Given the description of an element on the screen output the (x, y) to click on. 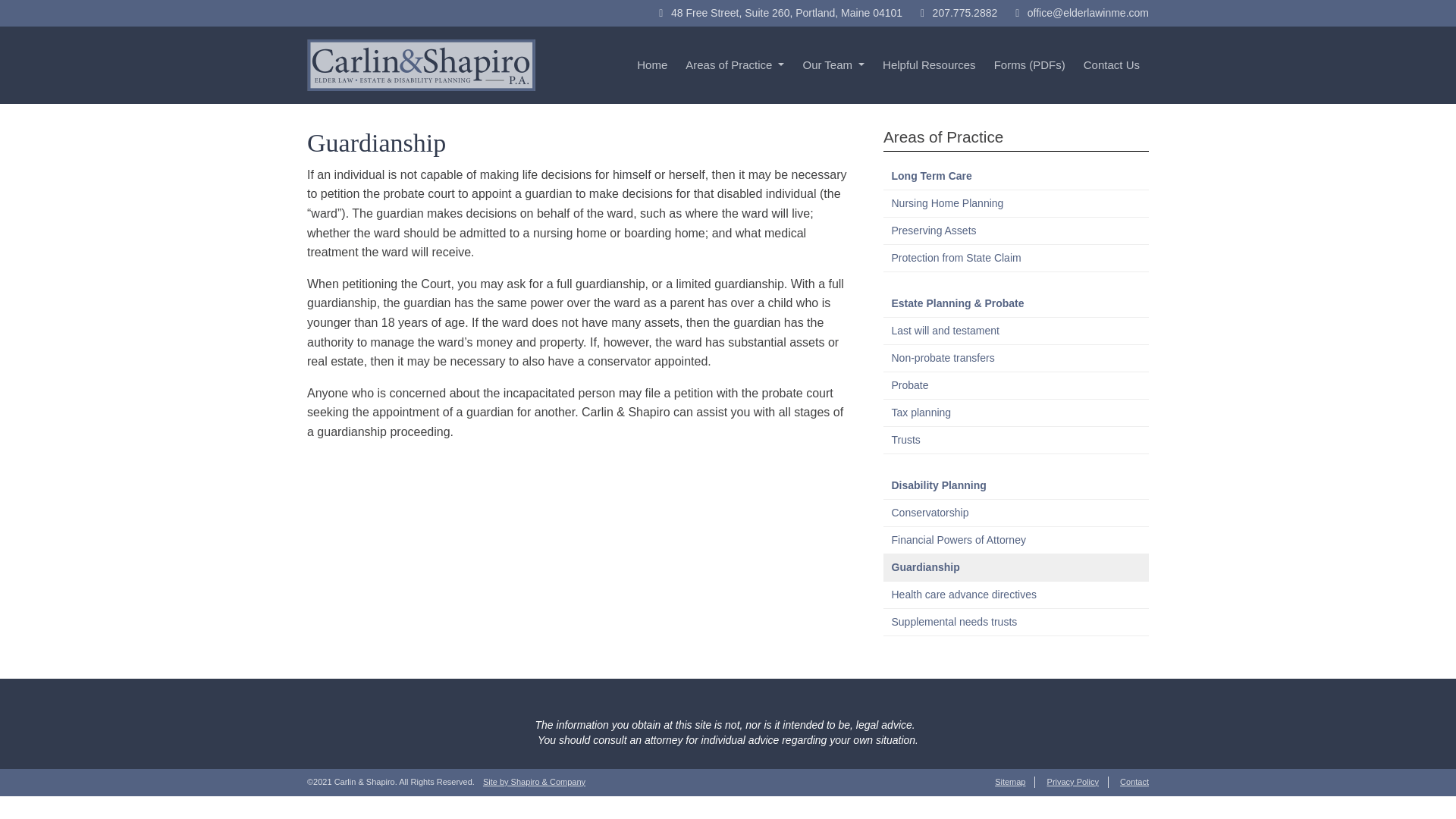
Non-probate transfers (1015, 358)
Helpful Resources (929, 64)
Health care advance directives (1015, 595)
Privacy Policy (1073, 781)
Contact Us (1111, 64)
Home (652, 64)
Disability Planning (1015, 485)
Areas of Practice (735, 64)
Contact Us (1111, 64)
Tax planning (1015, 412)
